Given the description of an element on the screen output the (x, y) to click on. 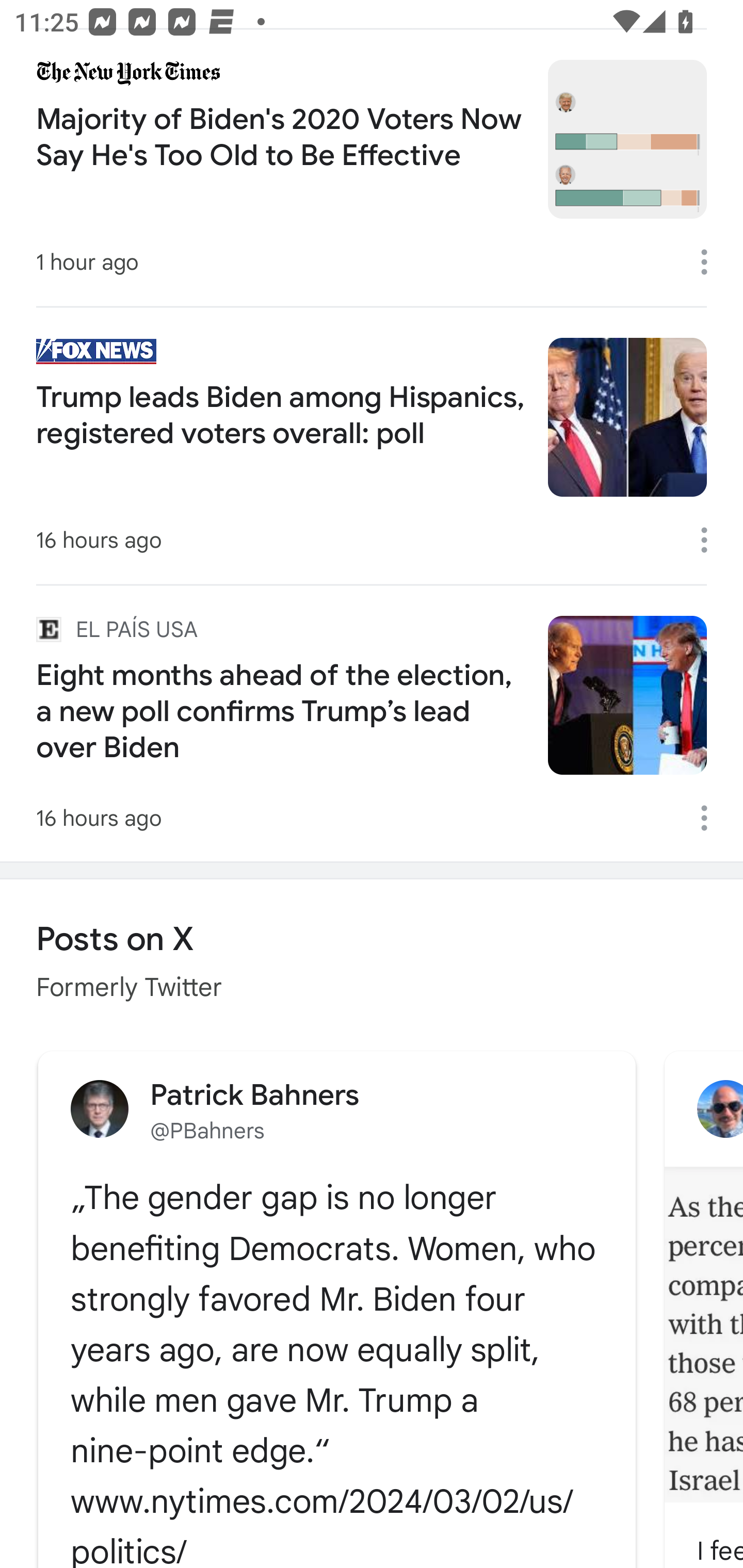
More options (711, 261)
More options (711, 540)
More options (711, 817)
